Given the description of an element on the screen output the (x, y) to click on. 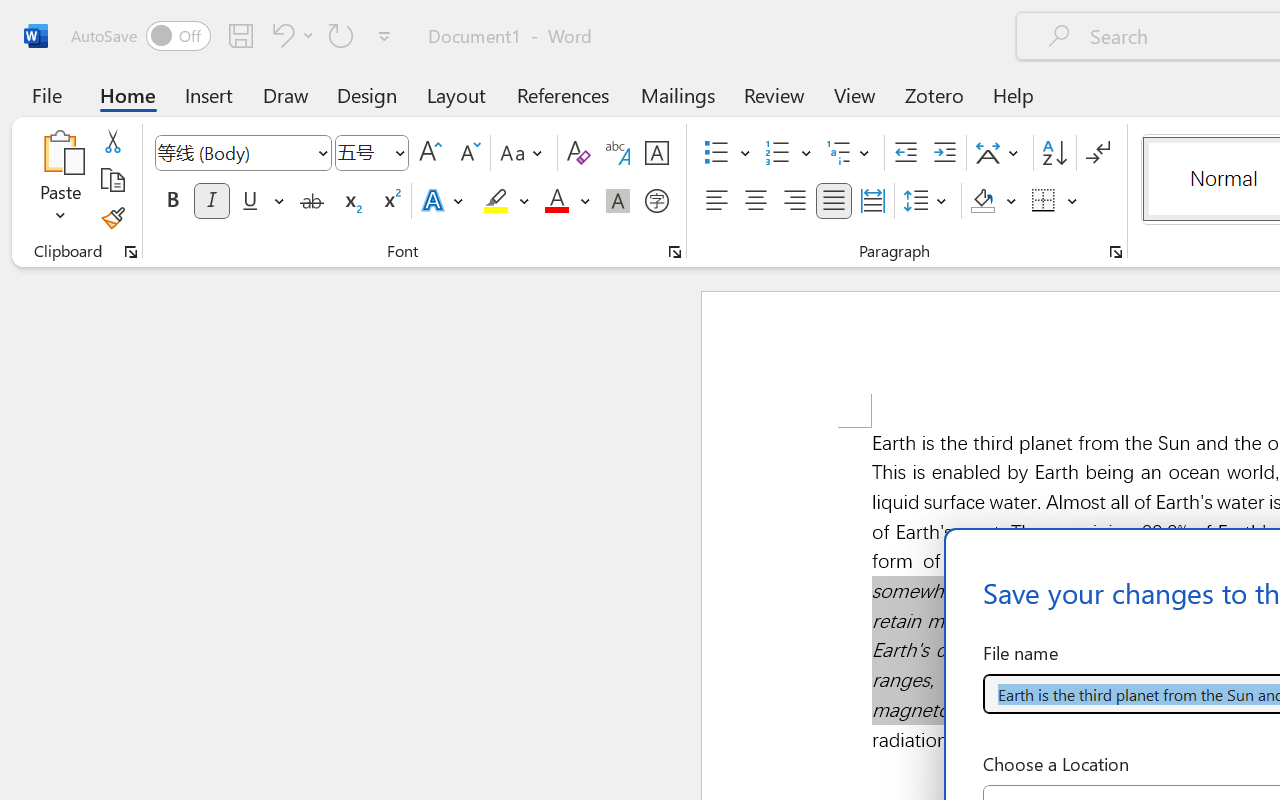
Shading (993, 201)
